Given the description of an element on the screen output the (x, y) to click on. 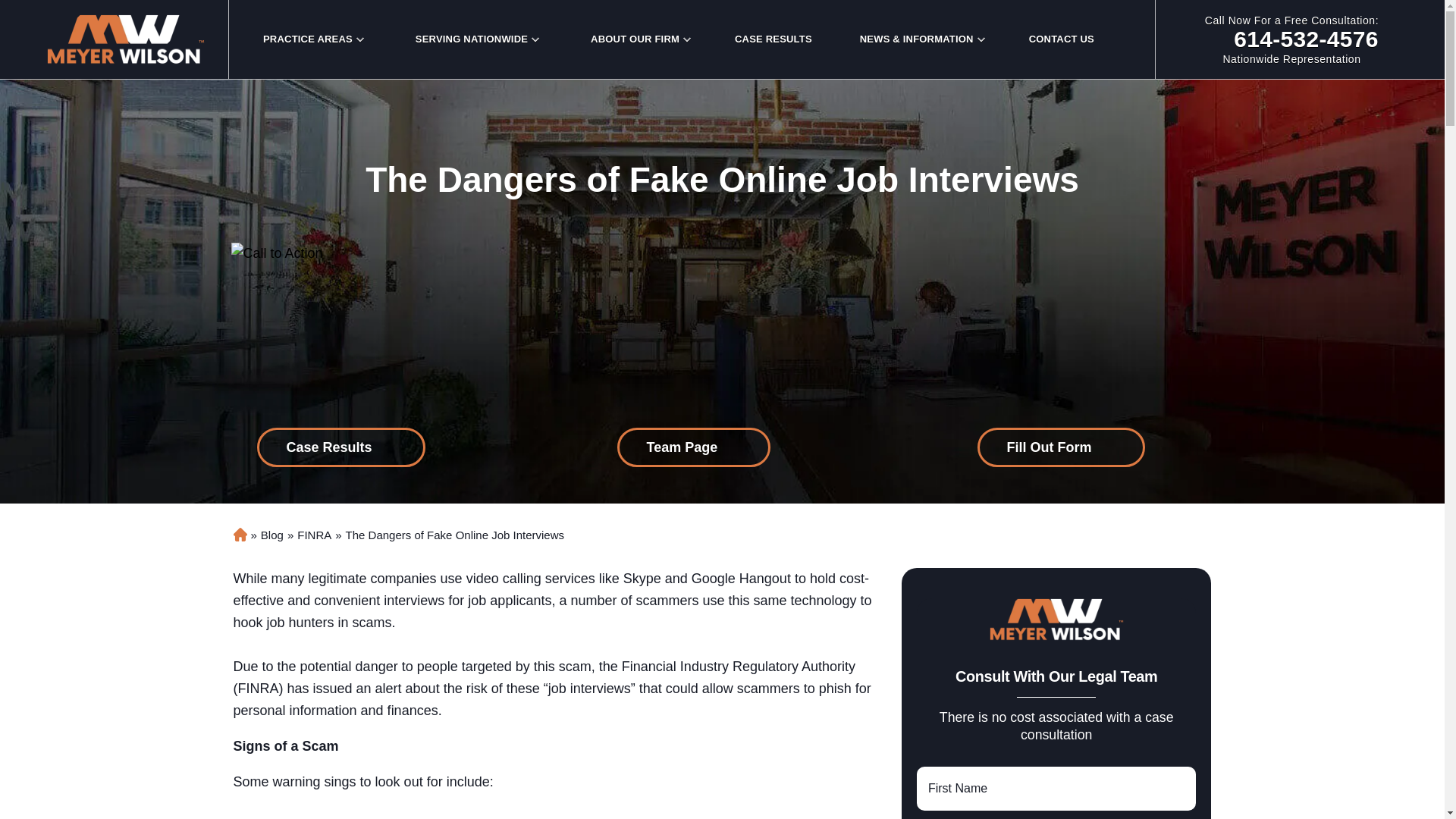
Call to Action (275, 253)
SERVING NATIONWIDE (470, 39)
PRACTICE AREAS (340, 446)
Fill Out Form (307, 39)
Team Page (1060, 446)
